Given the description of an element on the screen output the (x, y) to click on. 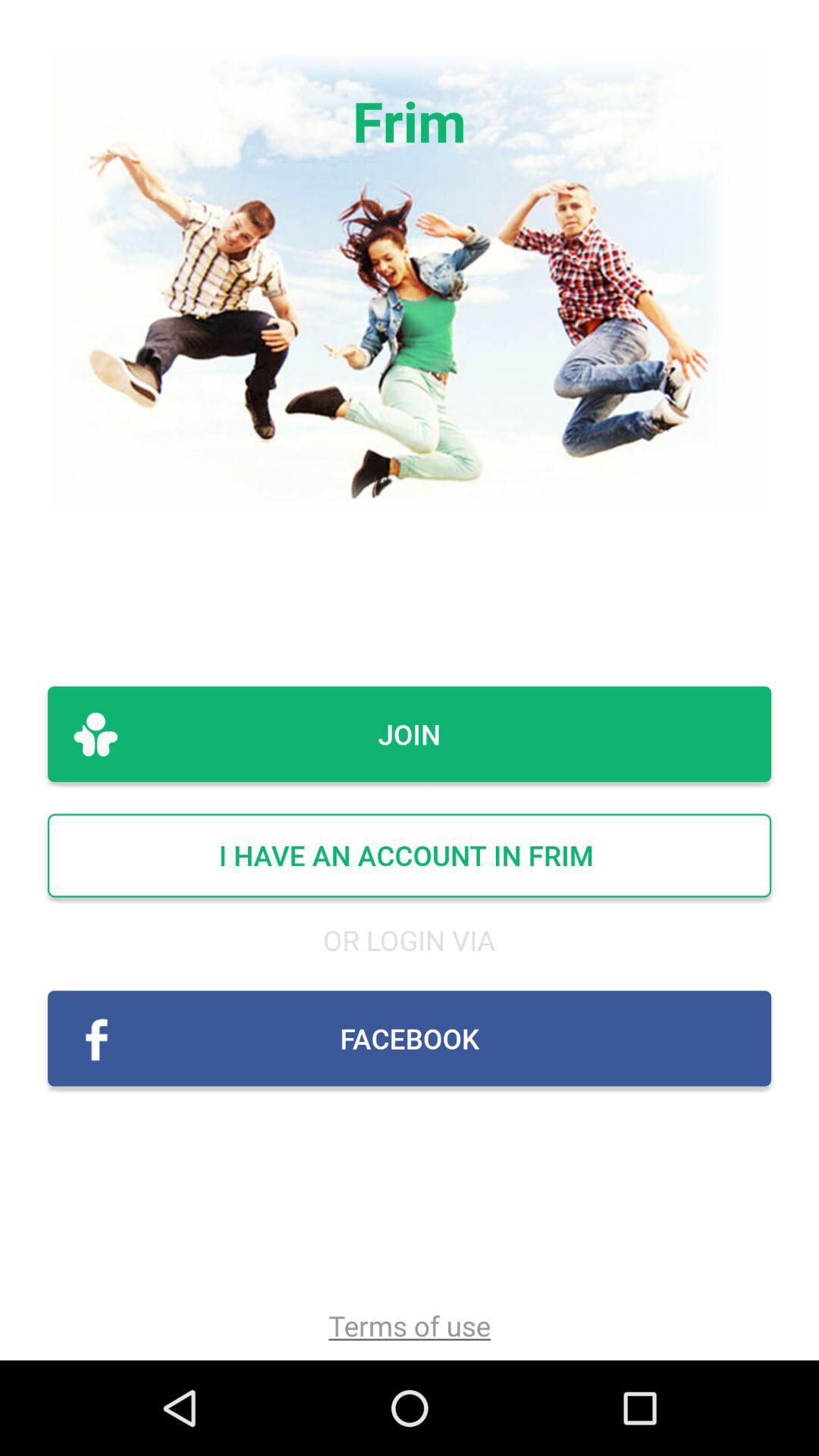
tap terms of use item (409, 1325)
